Given the description of an element on the screen output the (x, y) to click on. 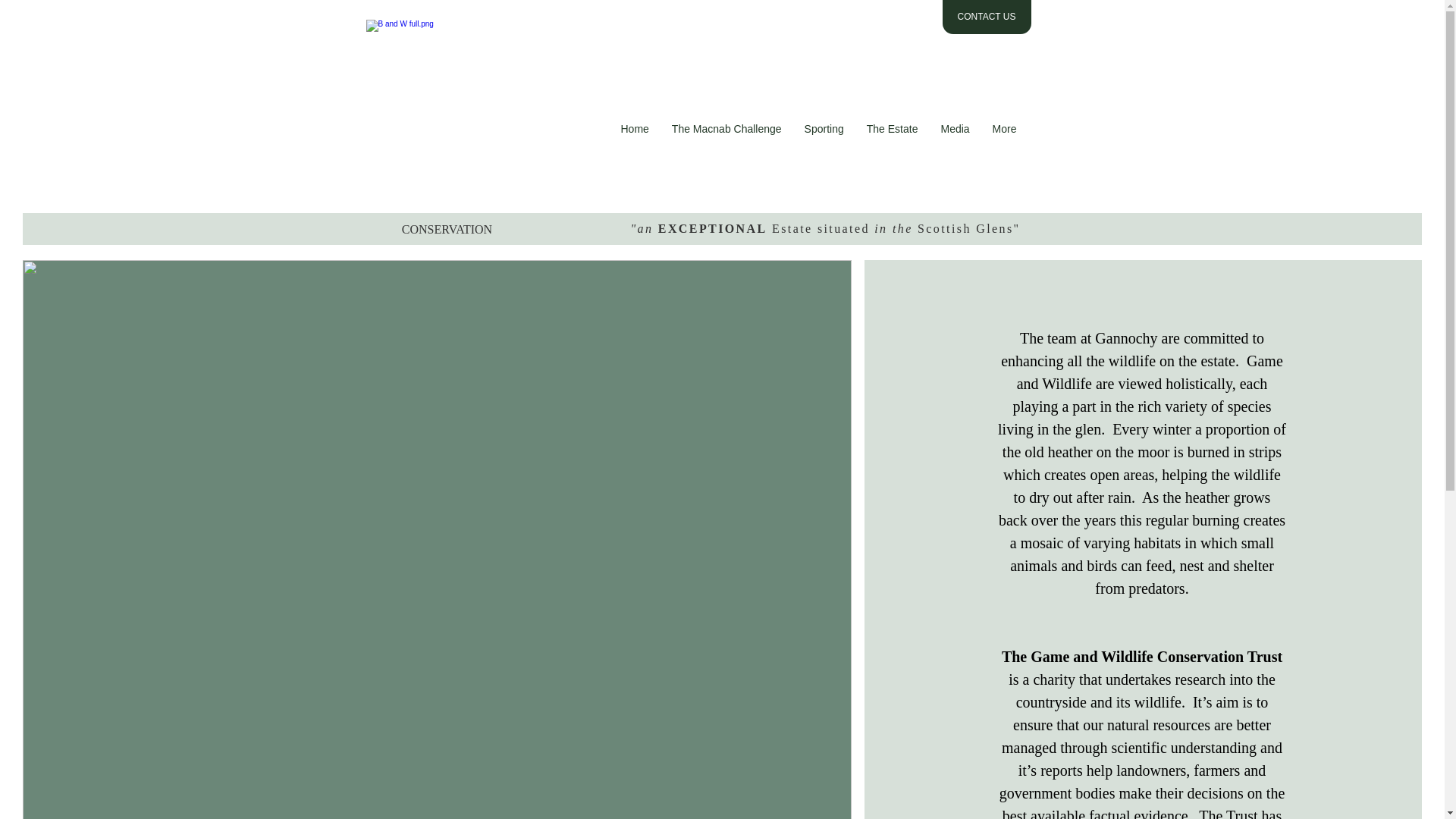
Home (633, 140)
The Game and Wildlife Conservation Trust (1141, 656)
The Macnab Challenge (727, 140)
CONTACT US (986, 17)
